Given the description of an element on the screen output the (x, y) to click on. 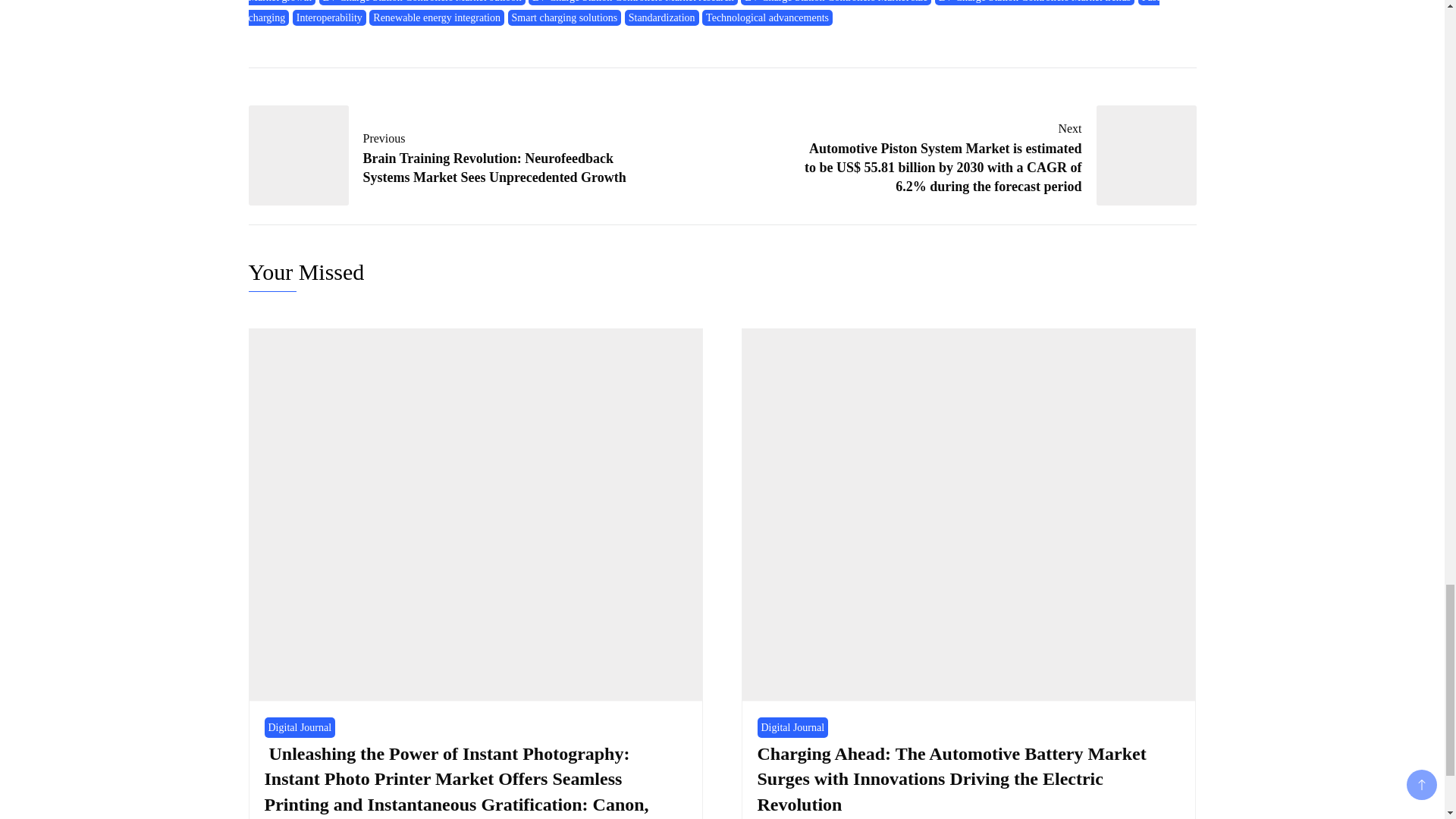
Renewable energy integration (436, 17)
EV Charge Station Controllers Market trends (1034, 2)
EV Charge Station Controllers Market size (836, 2)
EV Charge Station Controllers Market research (633, 2)
EV Charge Station Controllers Market outlook (421, 2)
Interoperability (329, 17)
Fast charging (704, 12)
